Given the description of an element on the screen output the (x, y) to click on. 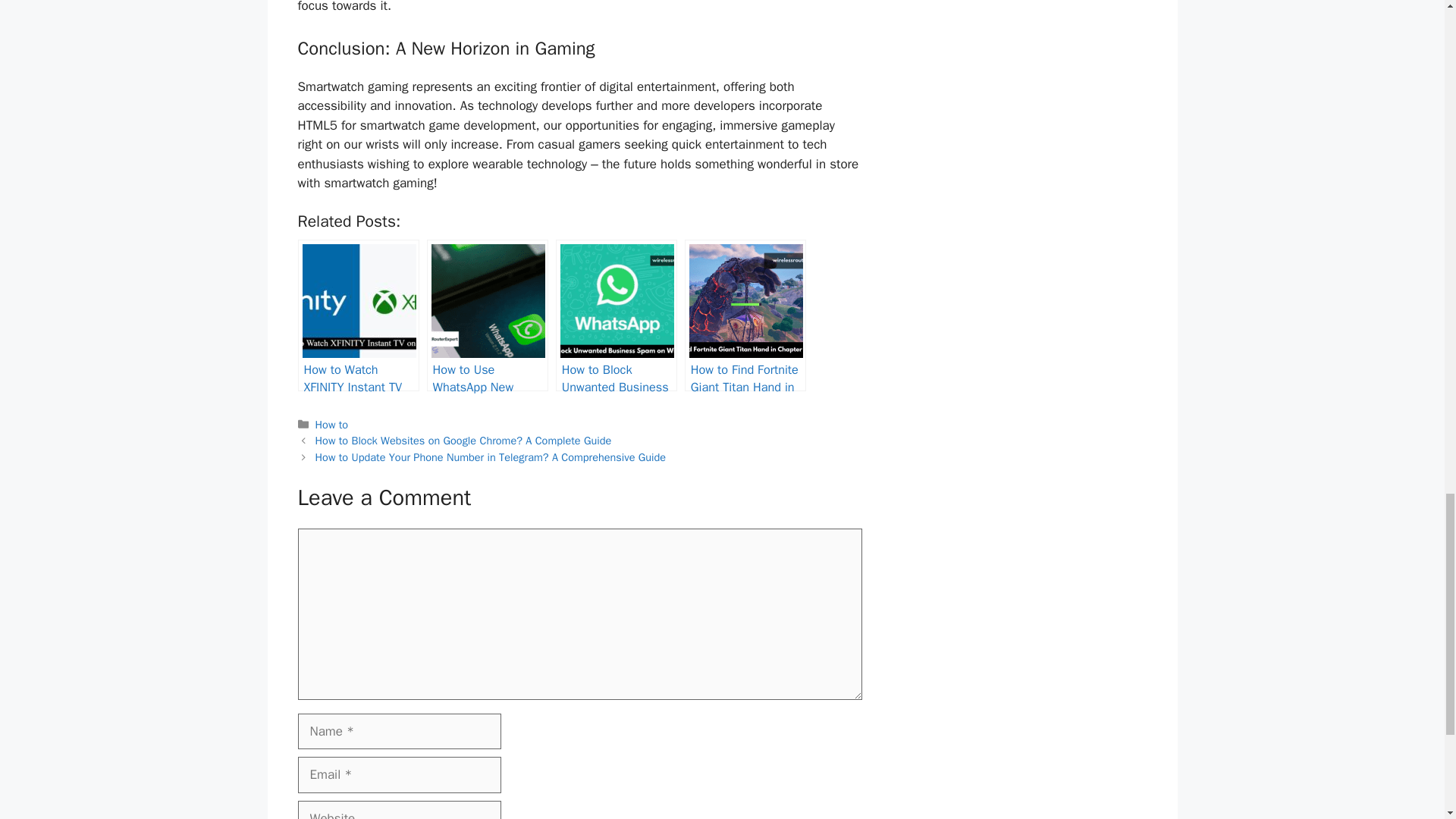
How to Block Websites on Google Chrome? A Complete Guide (463, 440)
How to (332, 424)
